Given the description of an element on the screen output the (x, y) to click on. 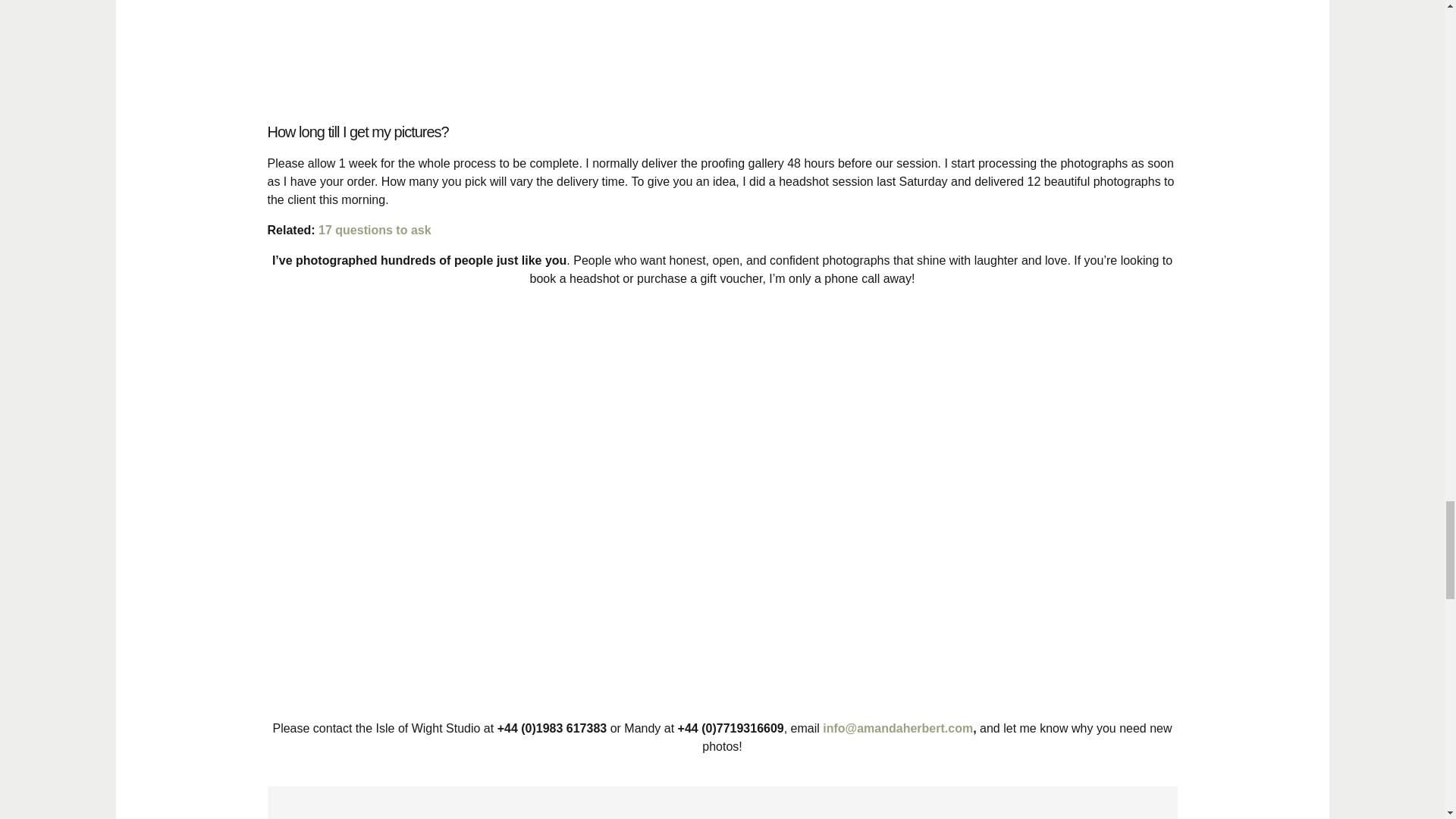
17 questions to ask  (375, 229)
